Given the description of an element on the screen output the (x, y) to click on. 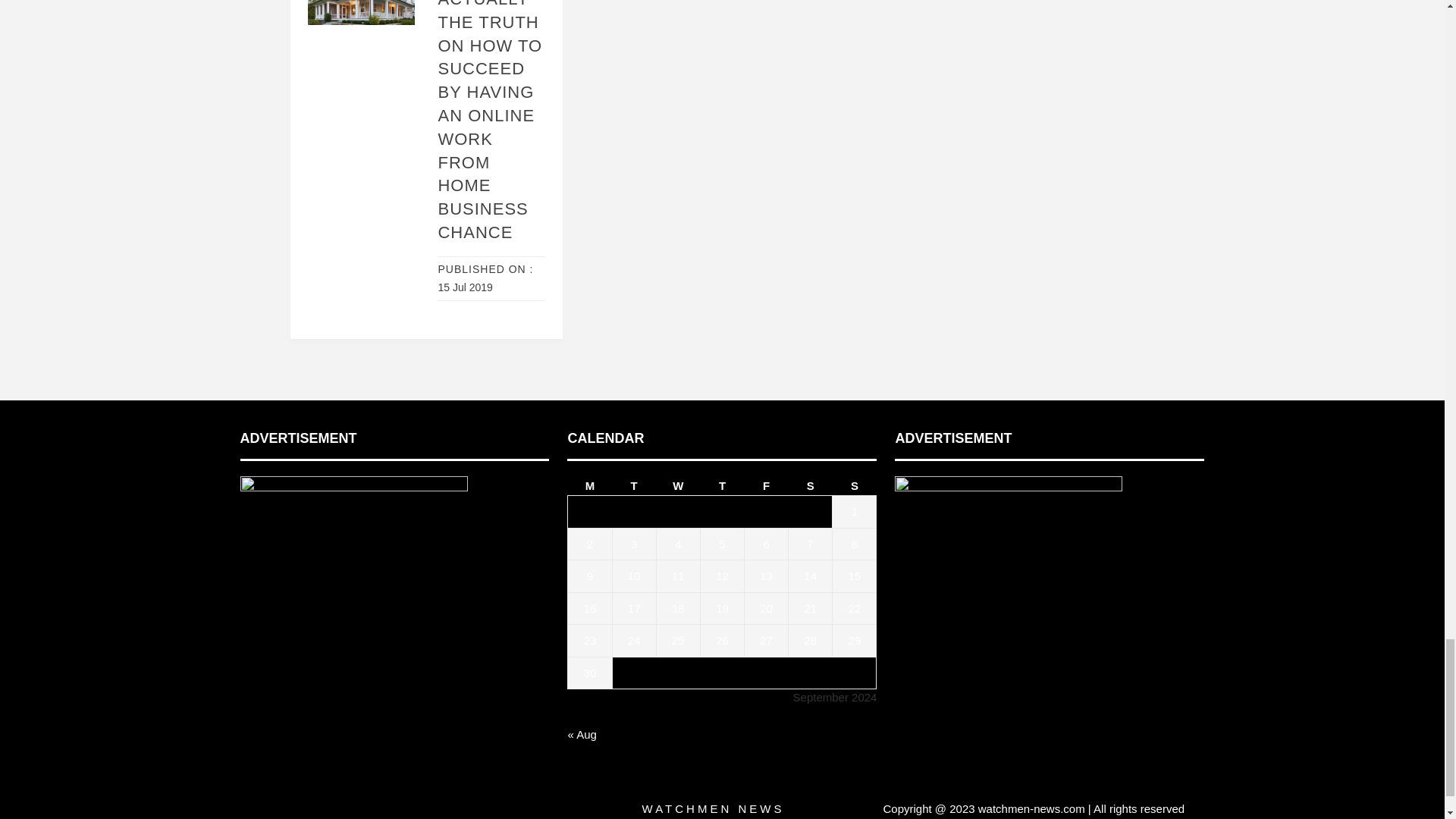
Monday (589, 485)
Thursday (722, 485)
Saturday (810, 485)
Tuesday (633, 485)
Wednesday (678, 485)
Friday (766, 485)
Sunday (854, 485)
